Given the description of an element on the screen output the (x, y) to click on. 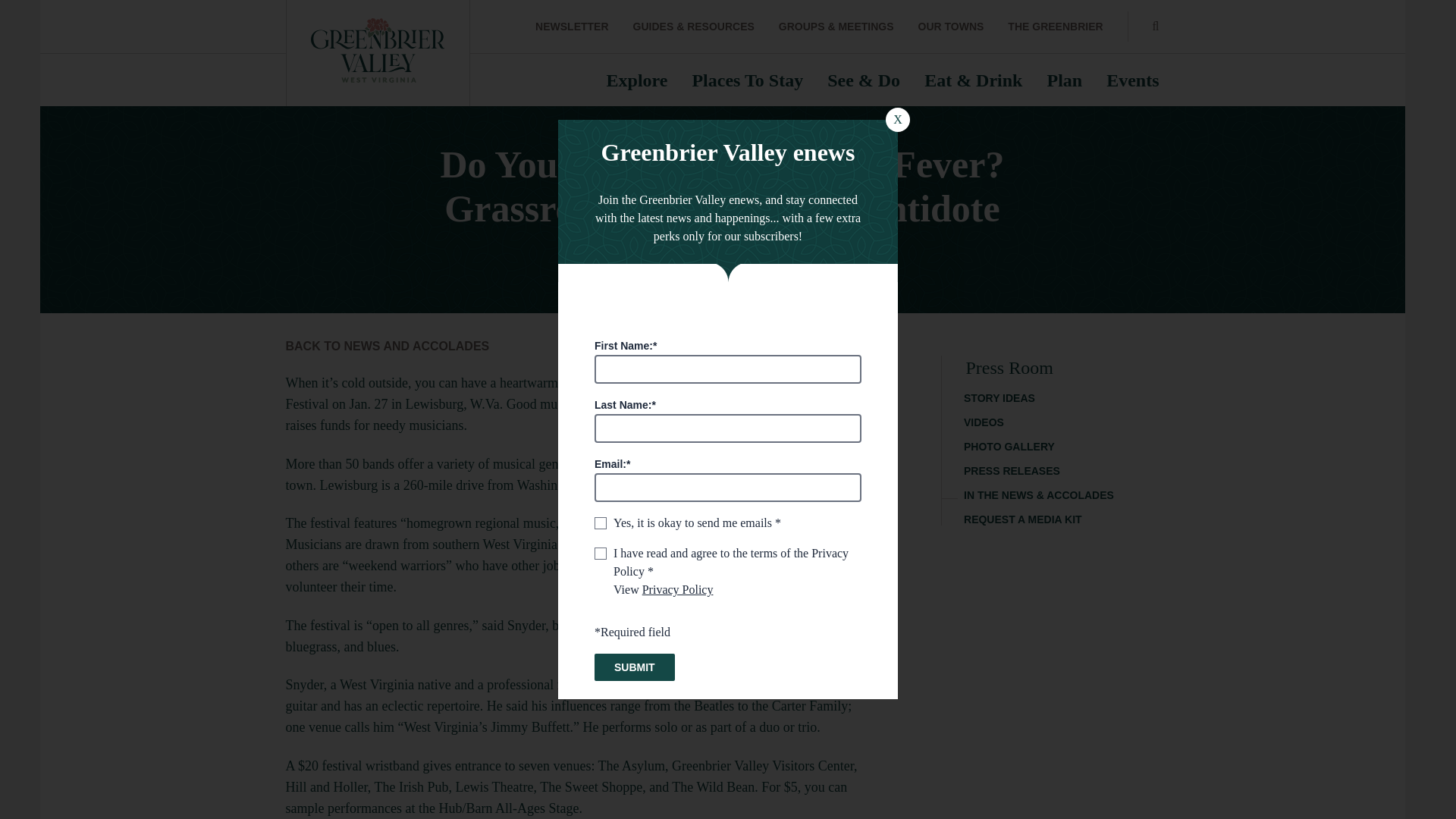
Plan (1063, 80)
THE GREENBRIER (1054, 26)
OUR TOWNS (950, 26)
Events (1132, 80)
1 (600, 522)
Explore (637, 80)
Submit (634, 666)
Places To Stay (747, 80)
NEWSLETTER (571, 26)
1 (600, 553)
